Given the description of an element on the screen output the (x, y) to click on. 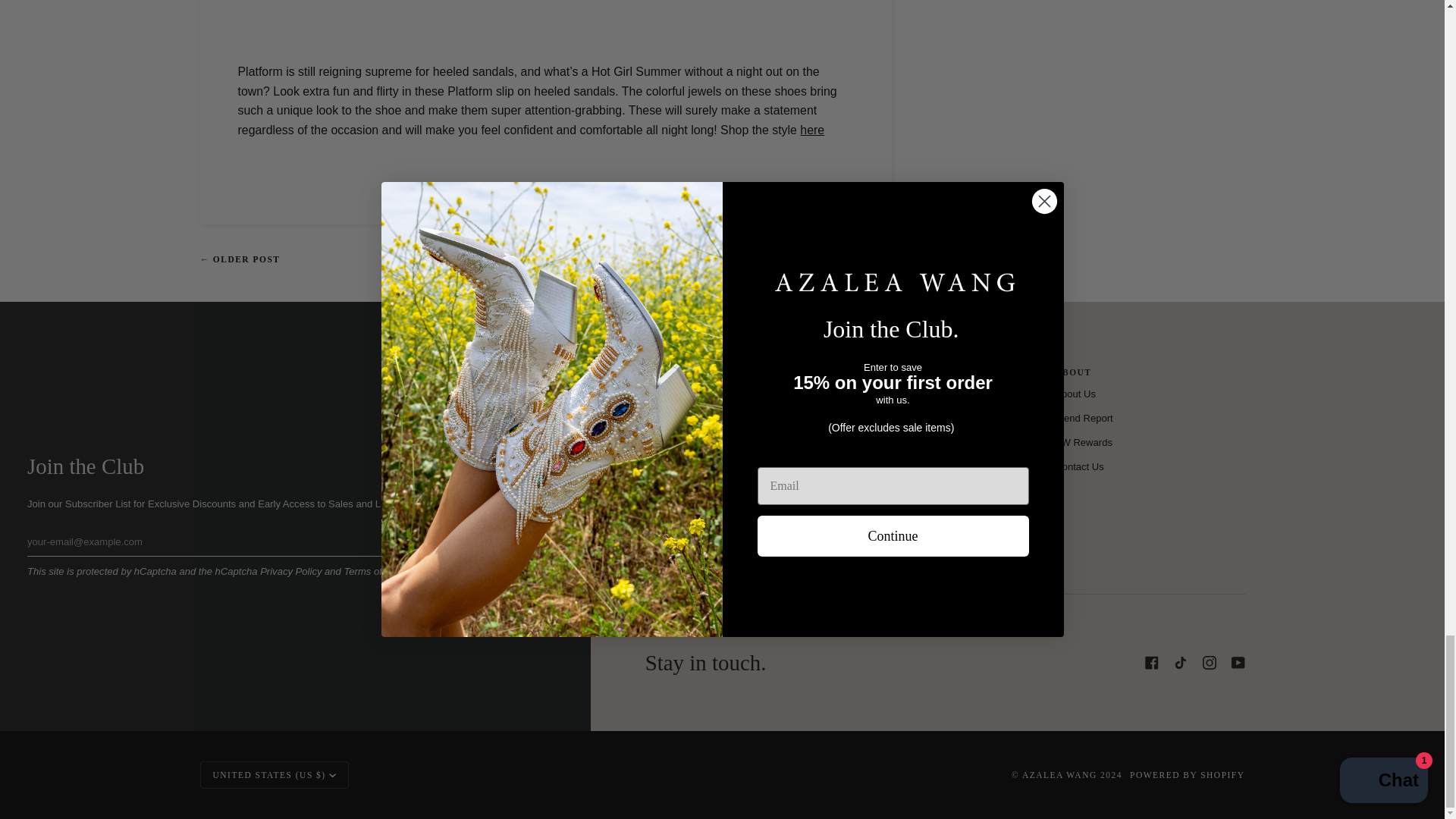
Instagram (1208, 662)
Facebook (1151, 662)
Tiktok (1180, 662)
BREEZE-WHITE BEJEWELED PLATFORM SANDAL (811, 129)
YouTube (1237, 662)
